Given the description of an element on the screen output the (x, y) to click on. 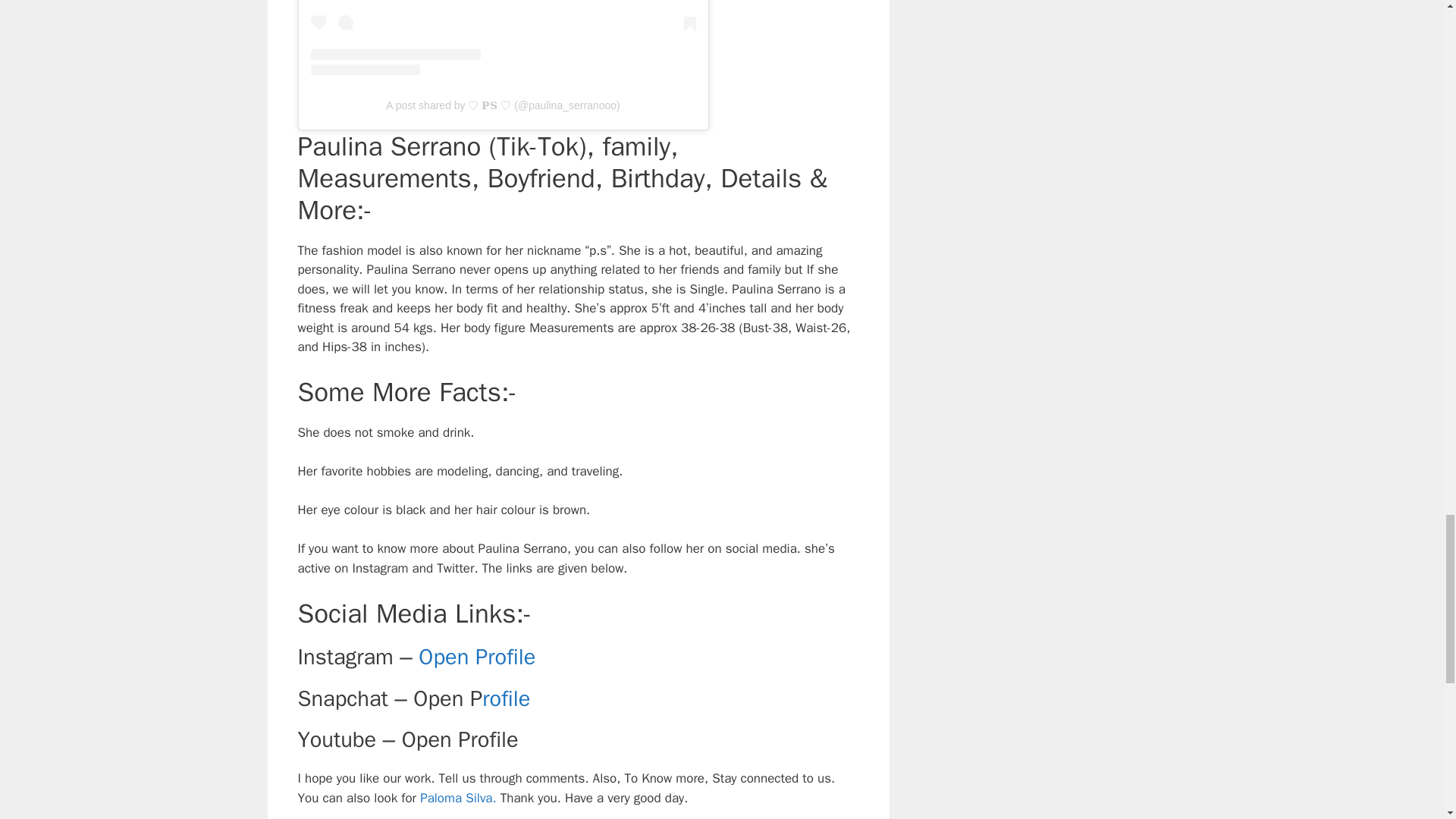
Open Profile (477, 656)
View this post on Instagram (503, 37)
rofile (505, 698)
Paloma Silva. (456, 797)
